Given the description of an element on the screen output the (x, y) to click on. 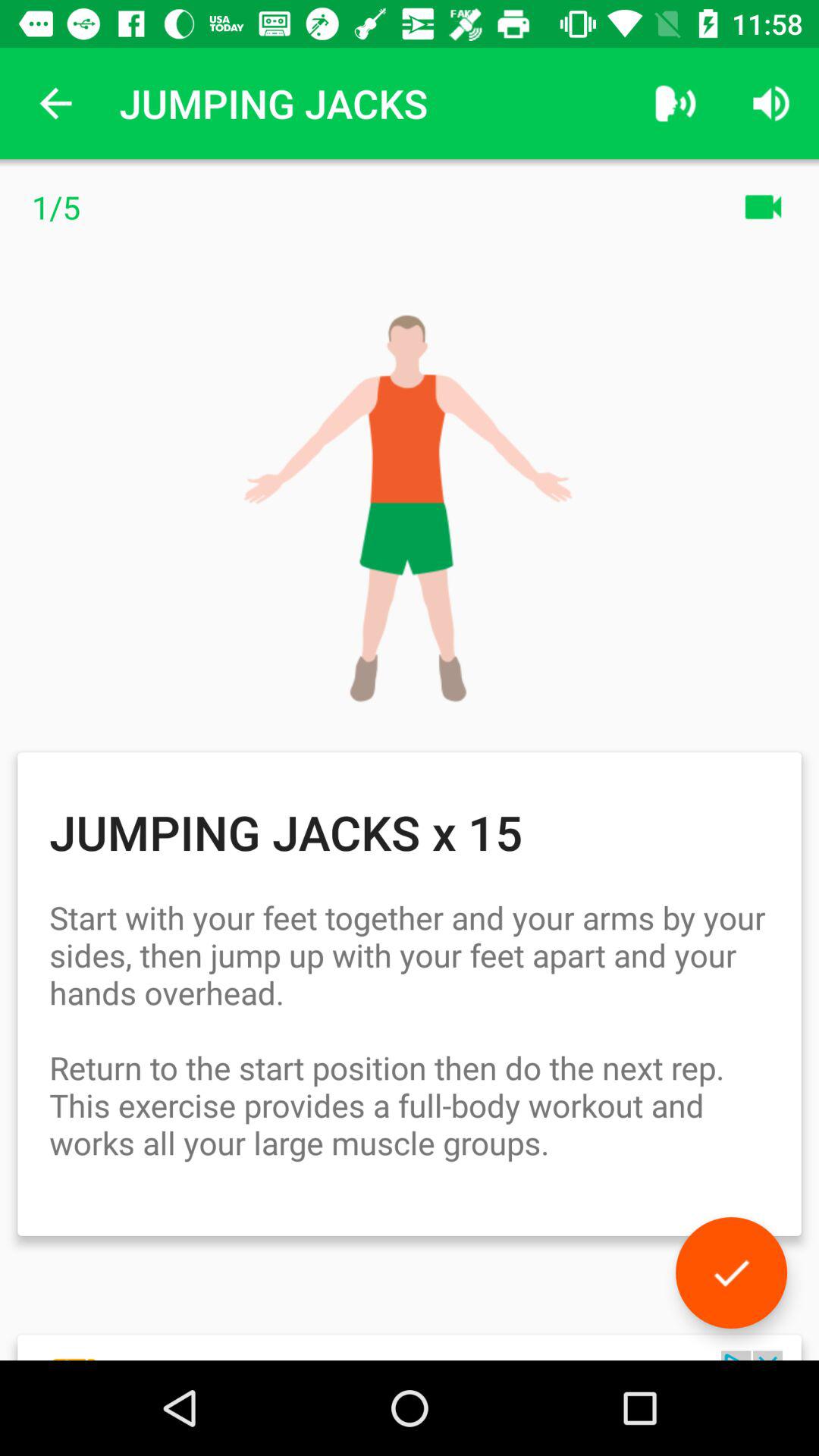
select done (731, 1272)
